Given the description of an element on the screen output the (x, y) to click on. 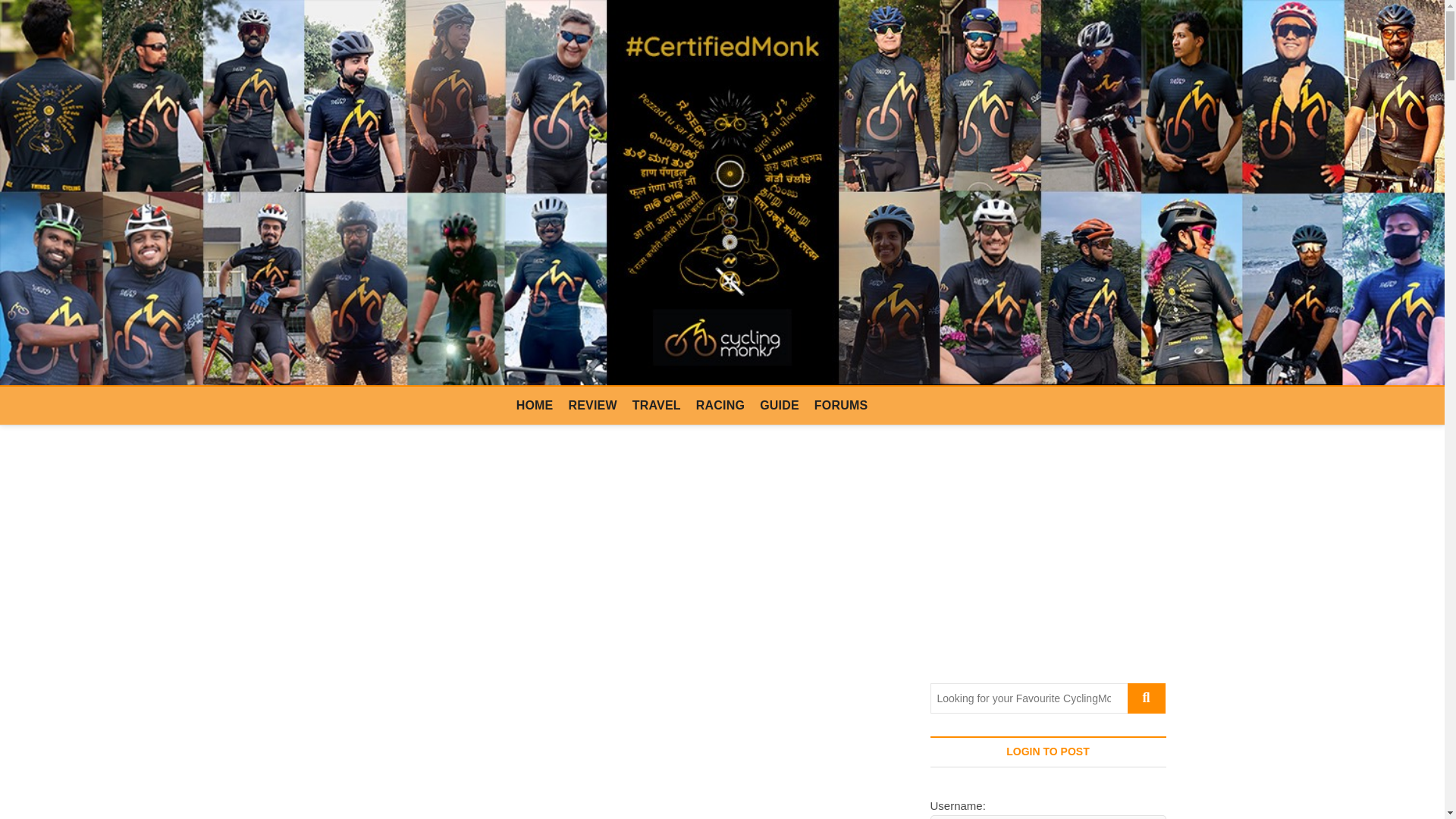
GUIDE (779, 405)
HOME (534, 405)
REVIEW (592, 405)
RACING (720, 405)
FORUMS (841, 405)
TRAVEL (656, 405)
